Given the description of an element on the screen output the (x, y) to click on. 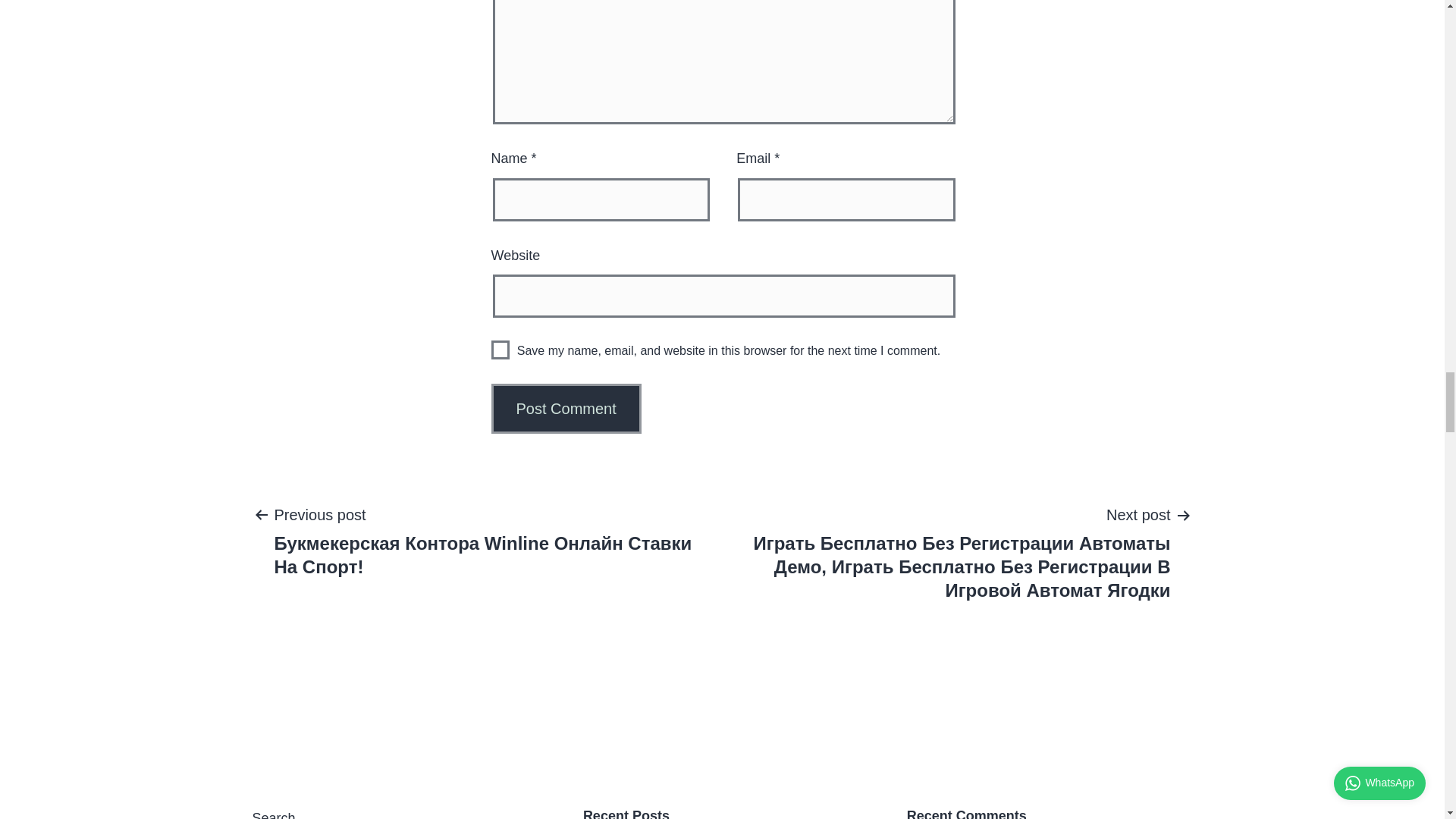
yes (500, 349)
Post Comment (567, 409)
Post Comment (567, 409)
